Given the description of an element on the screen output the (x, y) to click on. 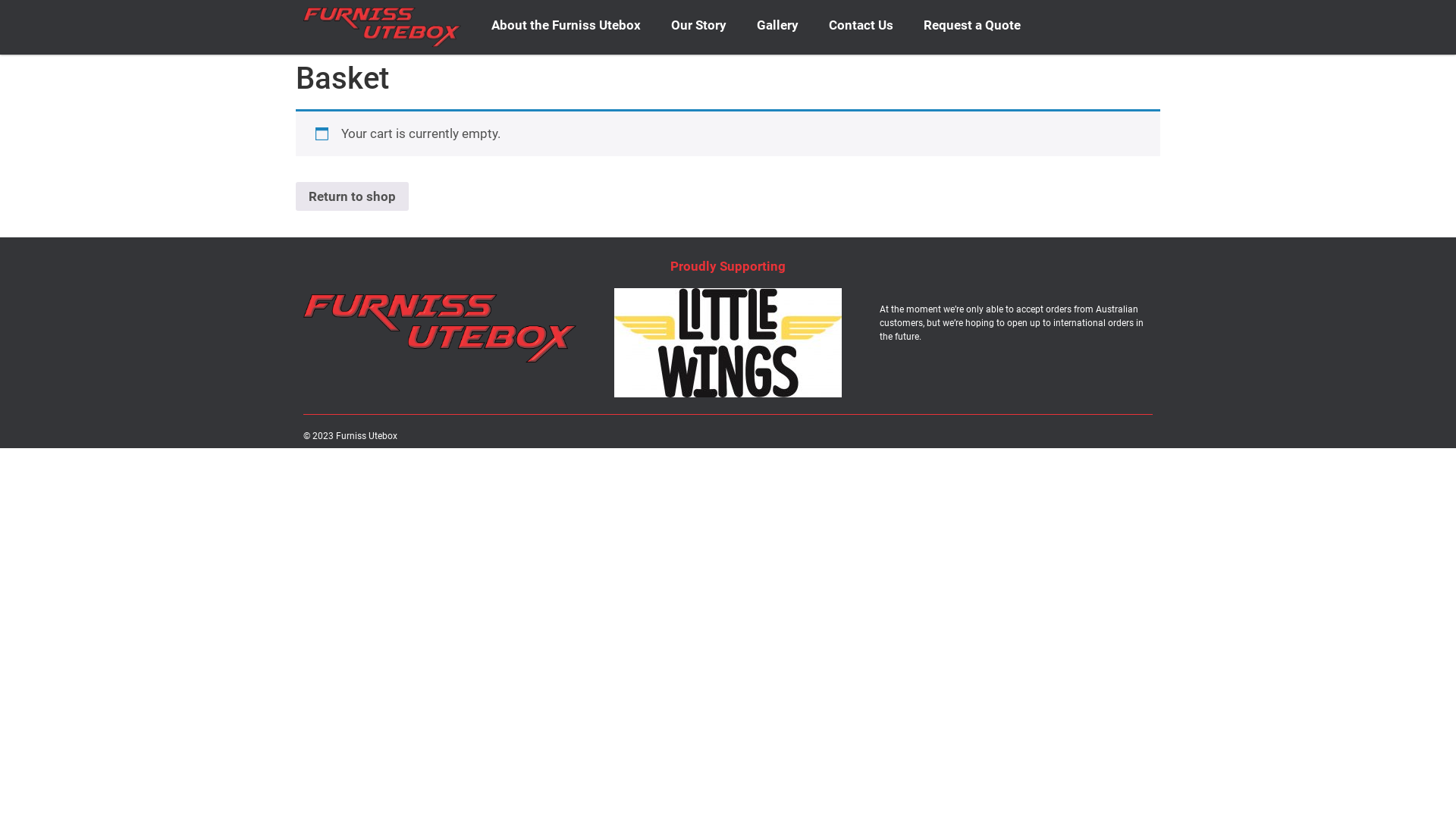
Contact Us Element type: text (860, 24)
Gallery Element type: text (777, 24)
Request a Quote Element type: text (971, 24)
About the Furniss Utebox Element type: text (565, 24)
Our Story Element type: text (698, 24)
Return to shop Element type: text (351, 196)
